Given the description of an element on the screen output the (x, y) to click on. 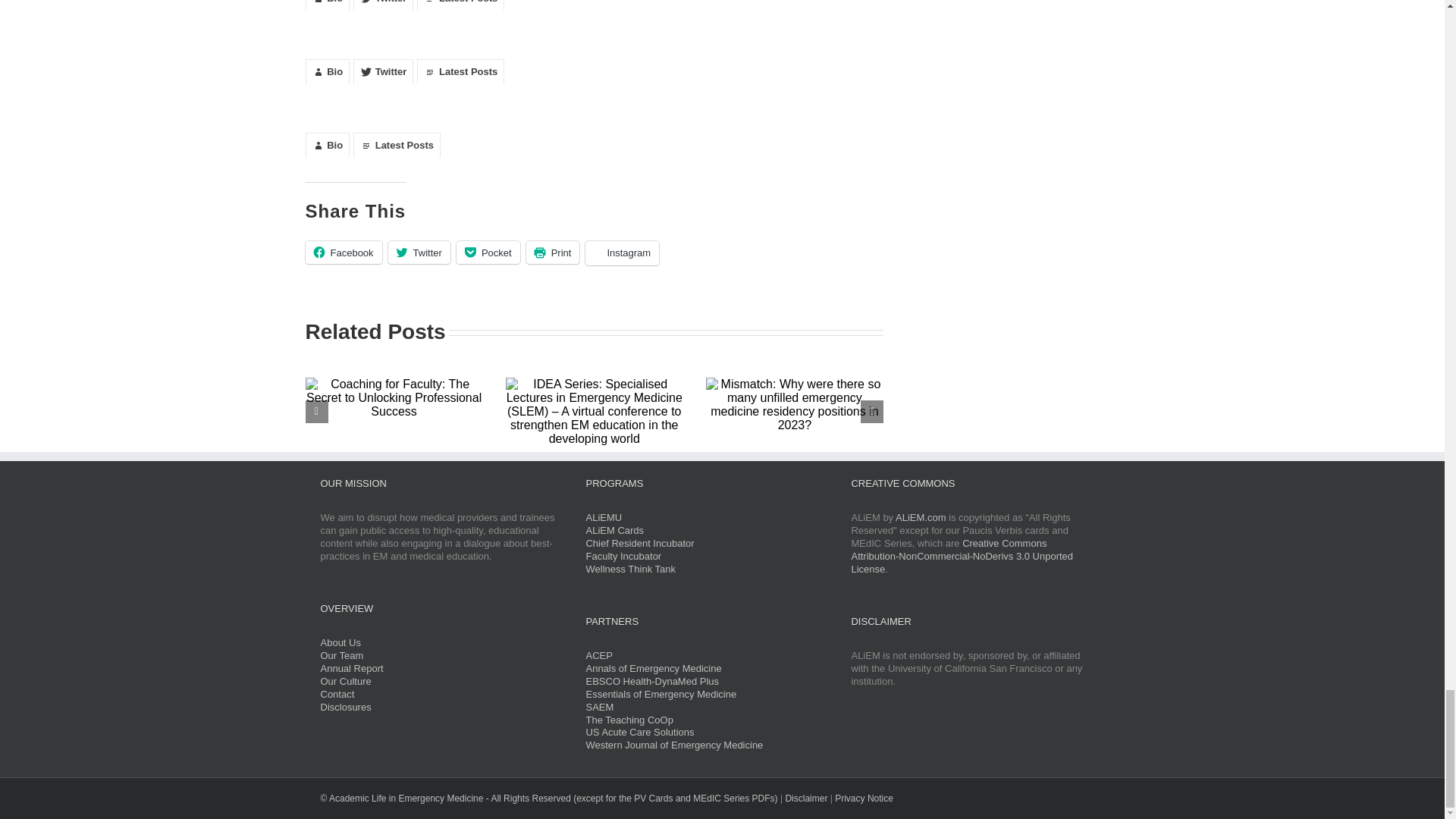
Click to share on Twitter (418, 251)
Click to share on Pocket (488, 251)
Click to share on Facebook (342, 251)
